Given the description of an element on the screen output the (x, y) to click on. 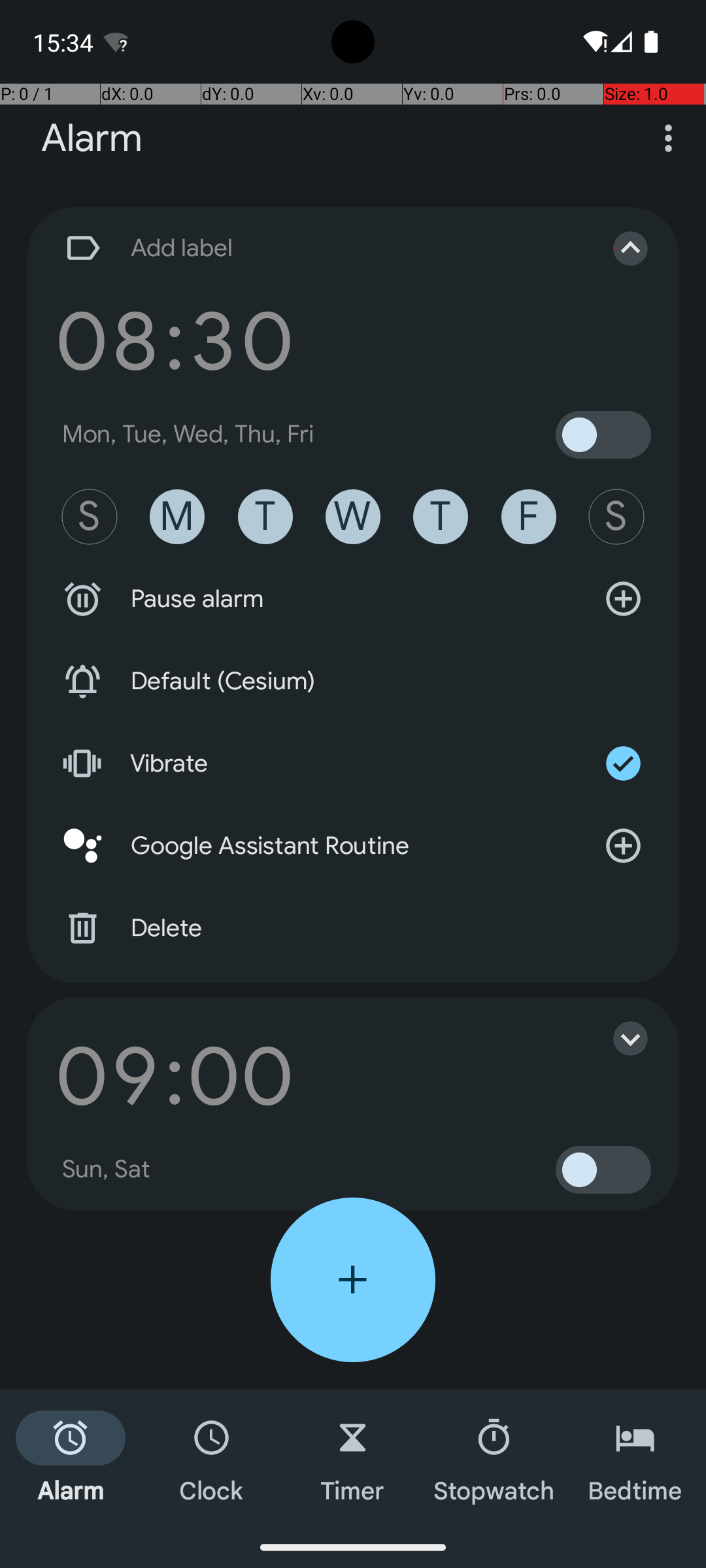
Add label Element type: android.widget.TextView (318, 248)
Collapse alarm Element type: android.widget.ImageButton (616, 248)
Pause alarm Element type: android.widget.TextView (352, 598)
Google Assistant Routine Element type: android.widget.TextView (352, 845)
